Given the description of an element on the screen output the (x, y) to click on. 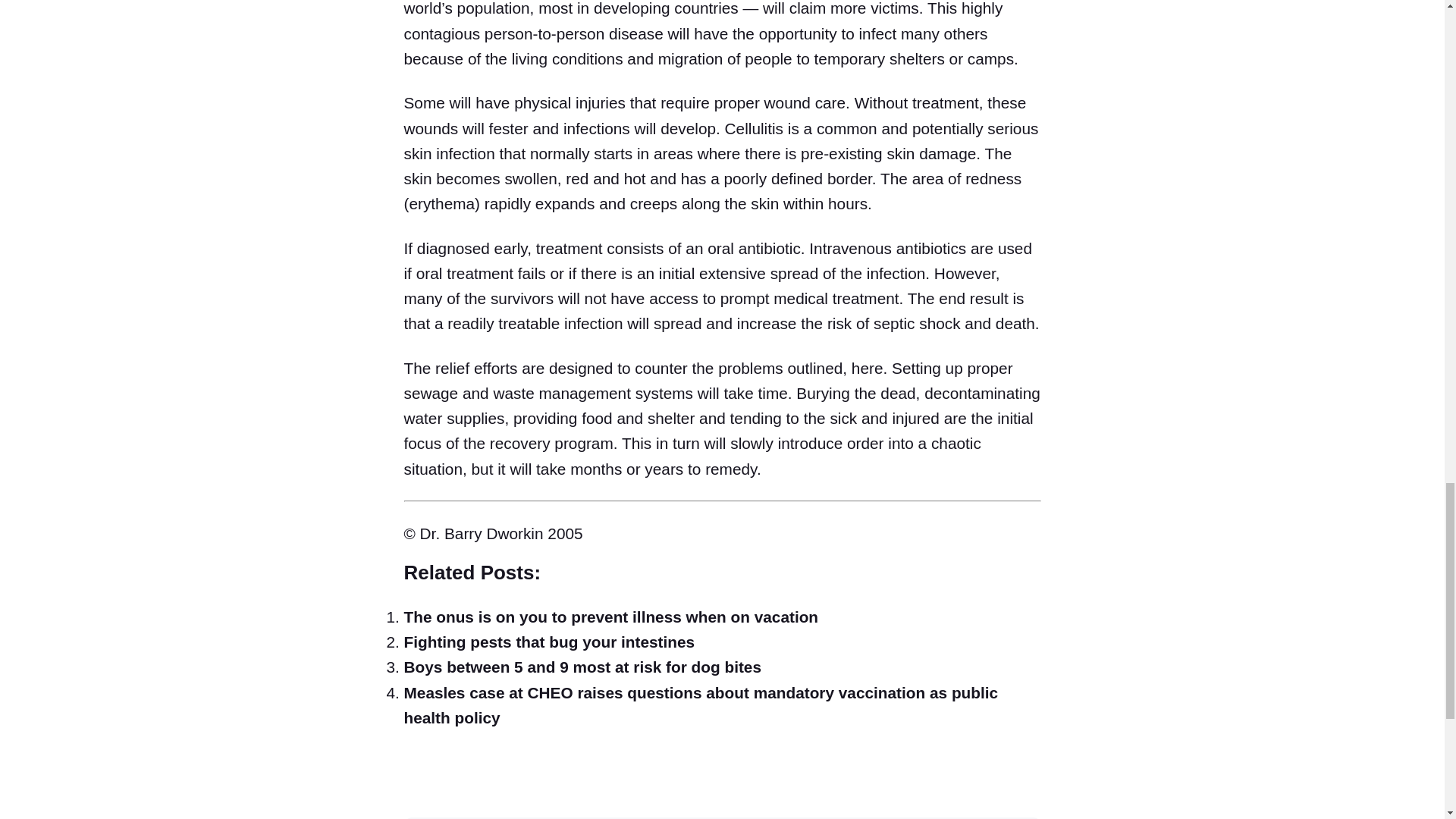
Boys between 5 and 9 most at risk for dog bites (582, 666)
Fighting pests that bug your intestines (548, 641)
Fighting pests that bug your intestines (548, 641)
Boys between 5 and 9 most at risk for dog bites (582, 666)
The onus is on you to prevent illness when on vacation (610, 616)
The onus is on you to prevent illness when on vacation (610, 616)
